Given the description of an element on the screen output the (x, y) to click on. 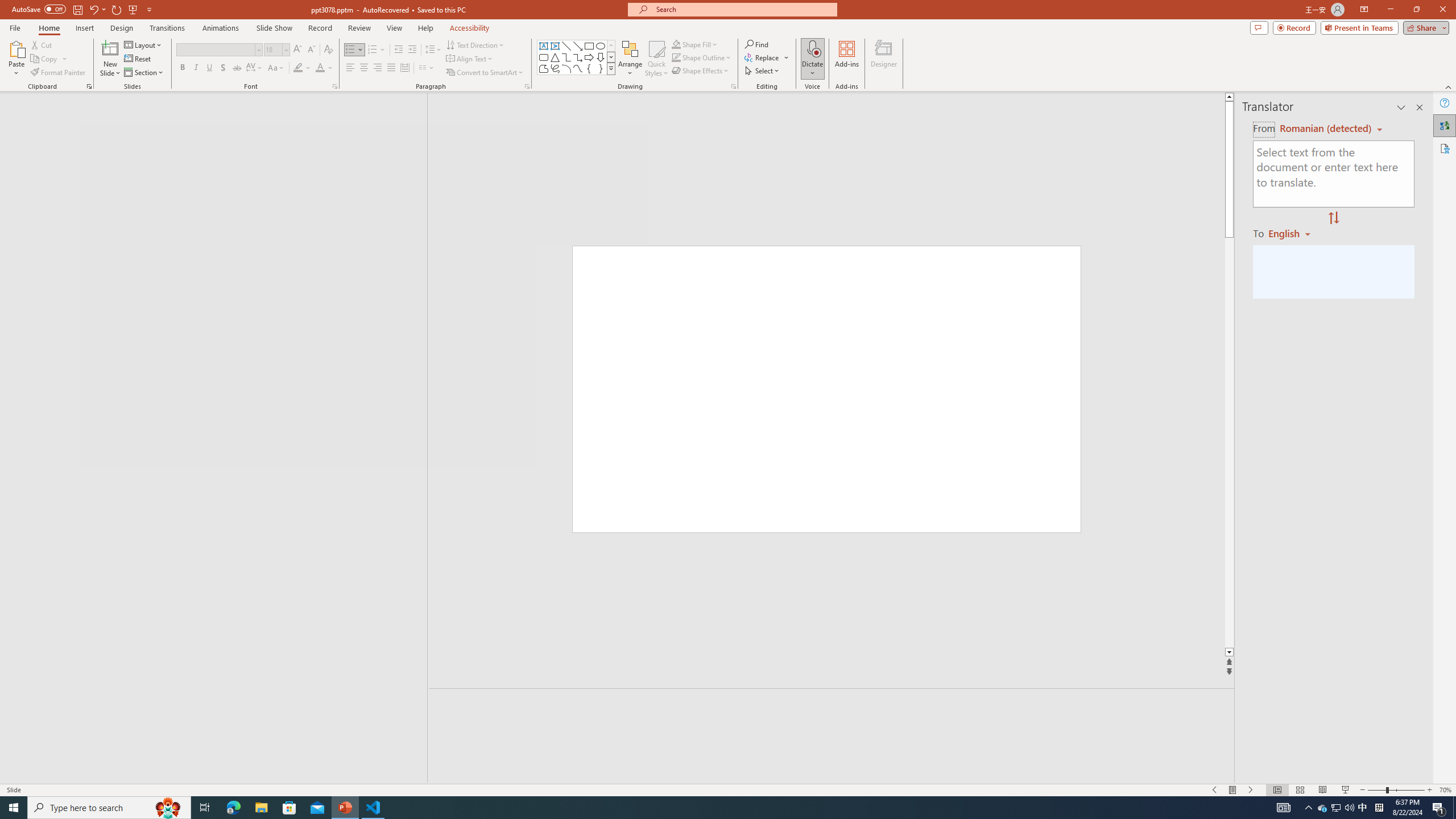
New Slide (110, 48)
Romanian (detected) (1323, 128)
Justify (390, 67)
Curve (577, 68)
Columns (426, 67)
Line Spacing (433, 49)
Class: MsoCommandBar (728, 789)
Rectangle (208, 437)
Shape Fill Dark Green, Accent 2 (675, 44)
Designer (883, 58)
Find... (756, 44)
